Given the description of an element on the screen output the (x, y) to click on. 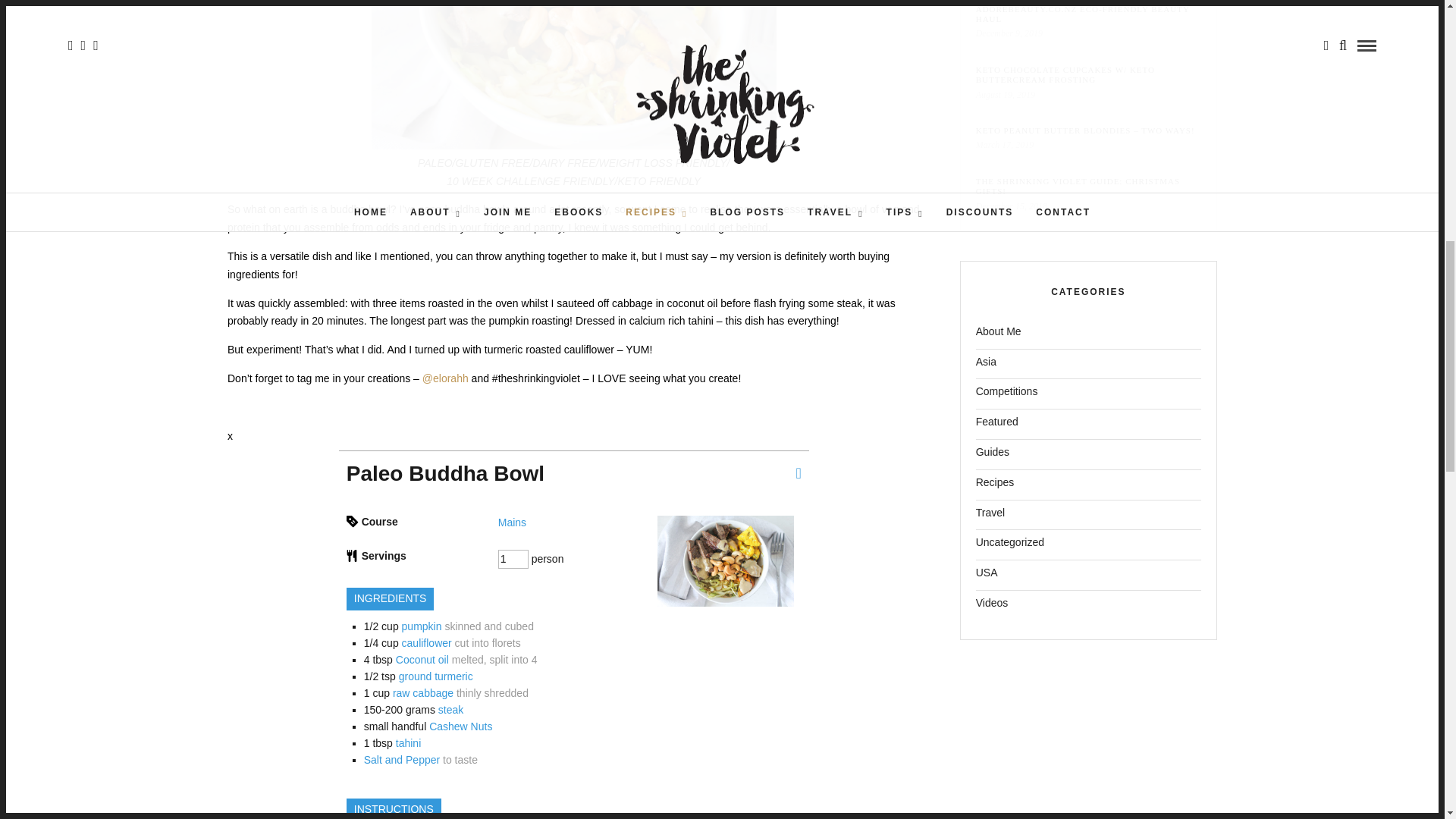
1 (512, 559)
